Given the description of an element on the screen output the (x, y) to click on. 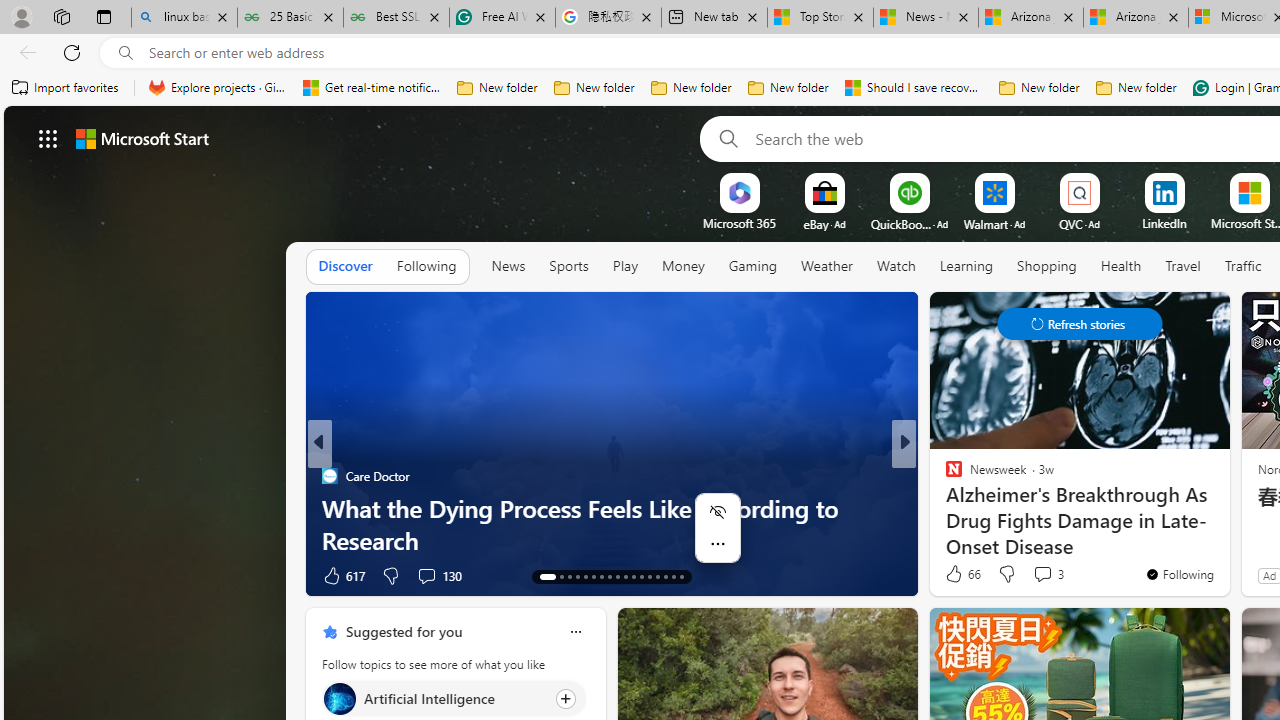
New folder (1136, 88)
AutomationID: tab-17 (585, 576)
Mini menu on text selection (717, 527)
View comments 16 Comment (1051, 574)
AutomationID: waffle (47, 138)
View comments 137 Comment (1048, 574)
View comments 115 Comment (1042, 575)
AutomationID: tab-15 (568, 576)
